Given the description of an element on the screen output the (x, y) to click on. 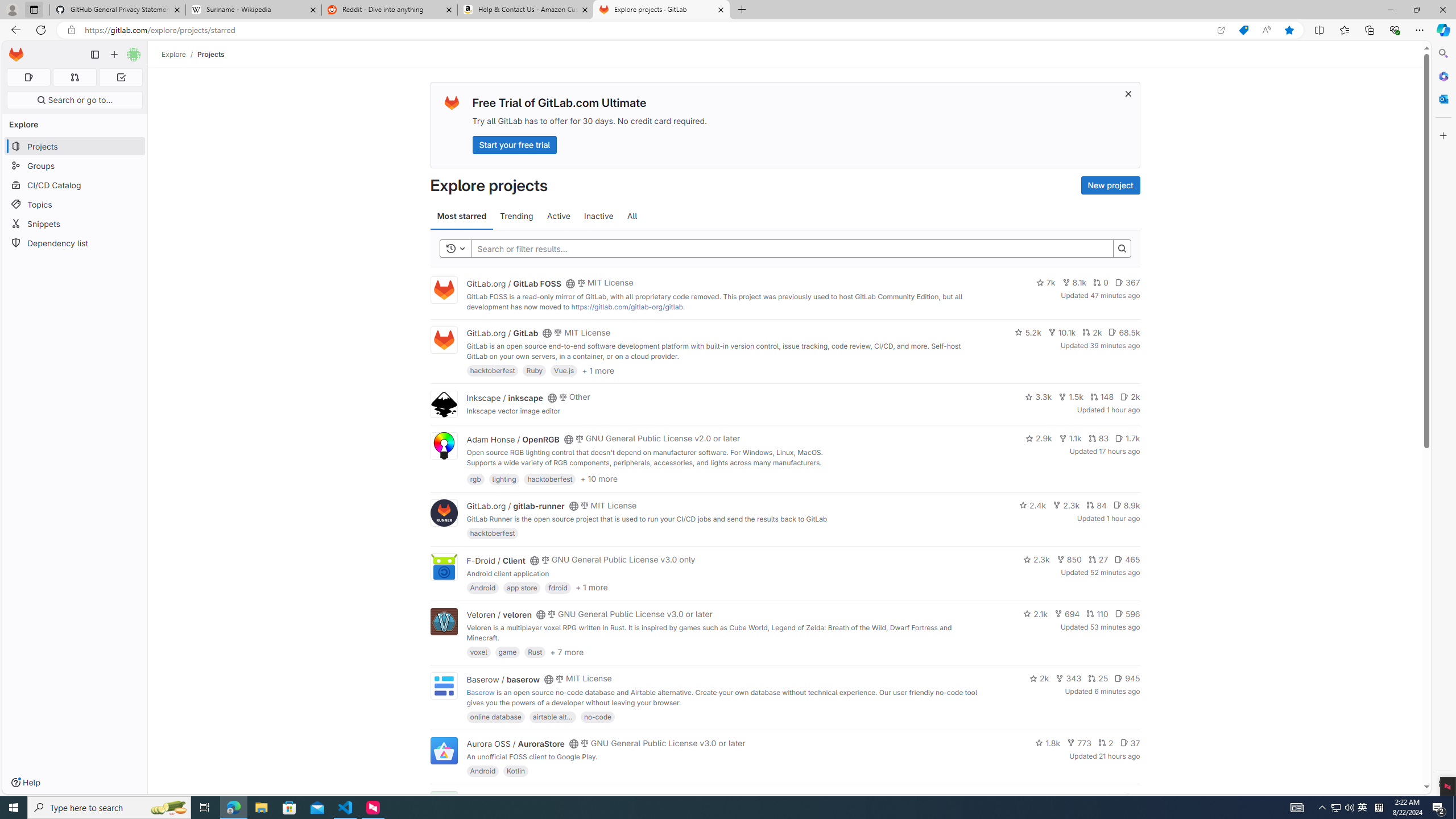
2.9k (1038, 438)
7k (1045, 282)
2k (1039, 678)
Active (559, 216)
2.4k (1032, 504)
Merge requests 0 (74, 76)
Trending (516, 216)
Topics (74, 203)
596 (1127, 613)
Dependency list (74, 242)
Inkscape / inkscape (504, 397)
